Given the description of an element on the screen output the (x, y) to click on. 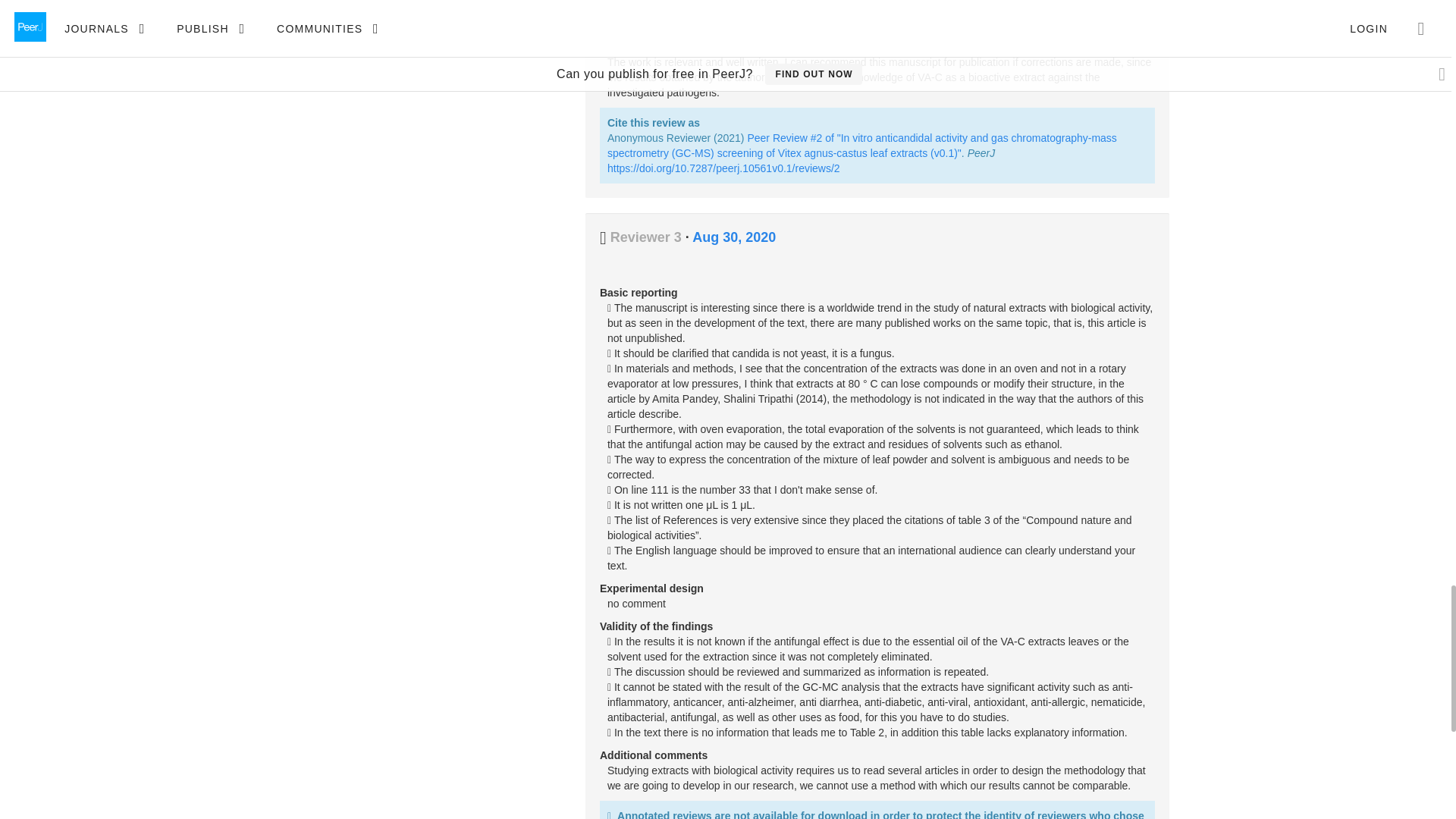
Permalink for this review (734, 237)
Aug 30, 2020 (734, 237)
